Given the description of an element on the screen output the (x, y) to click on. 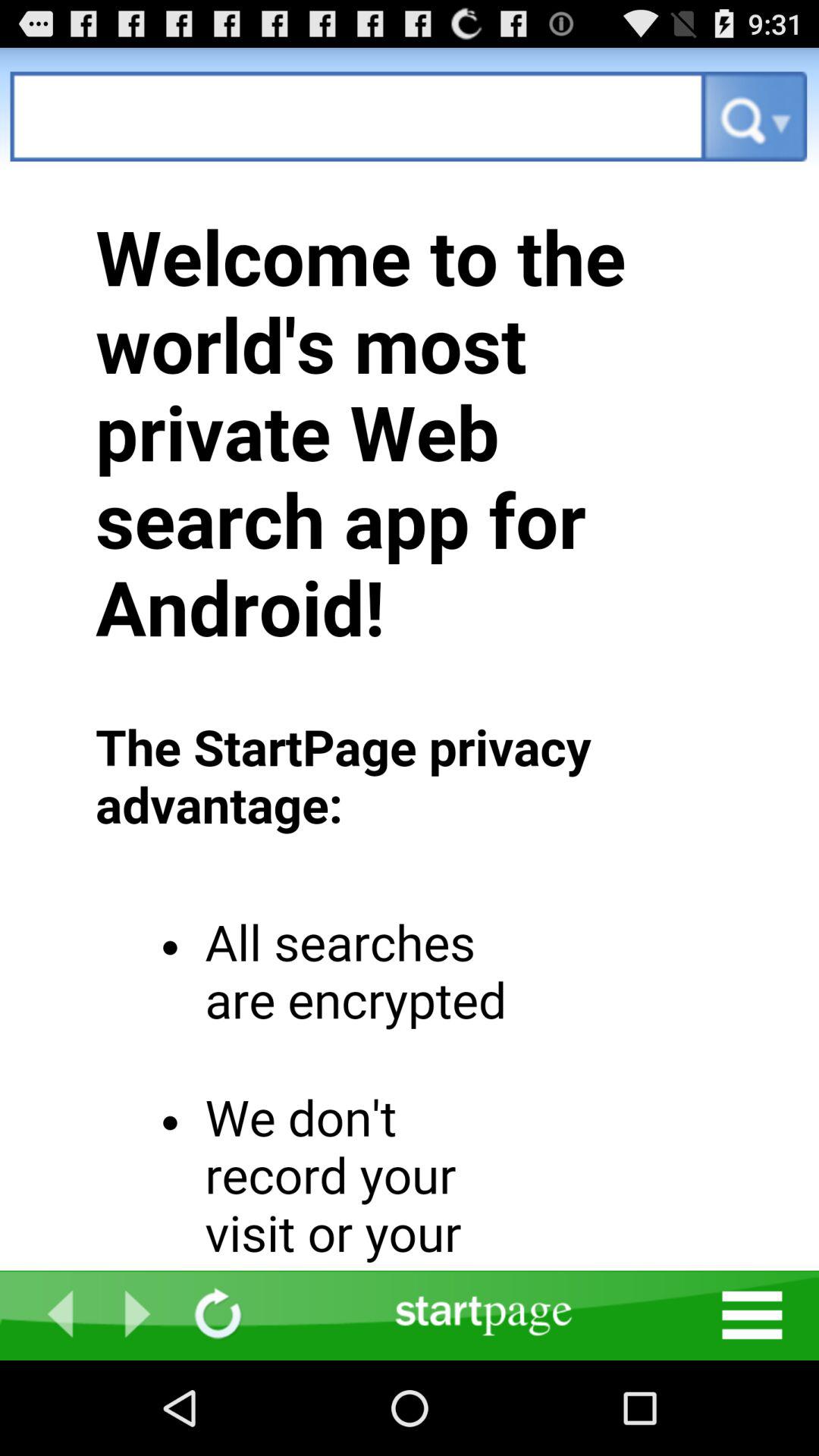
search page (357, 116)
